Given the description of an element on the screen output the (x, y) to click on. 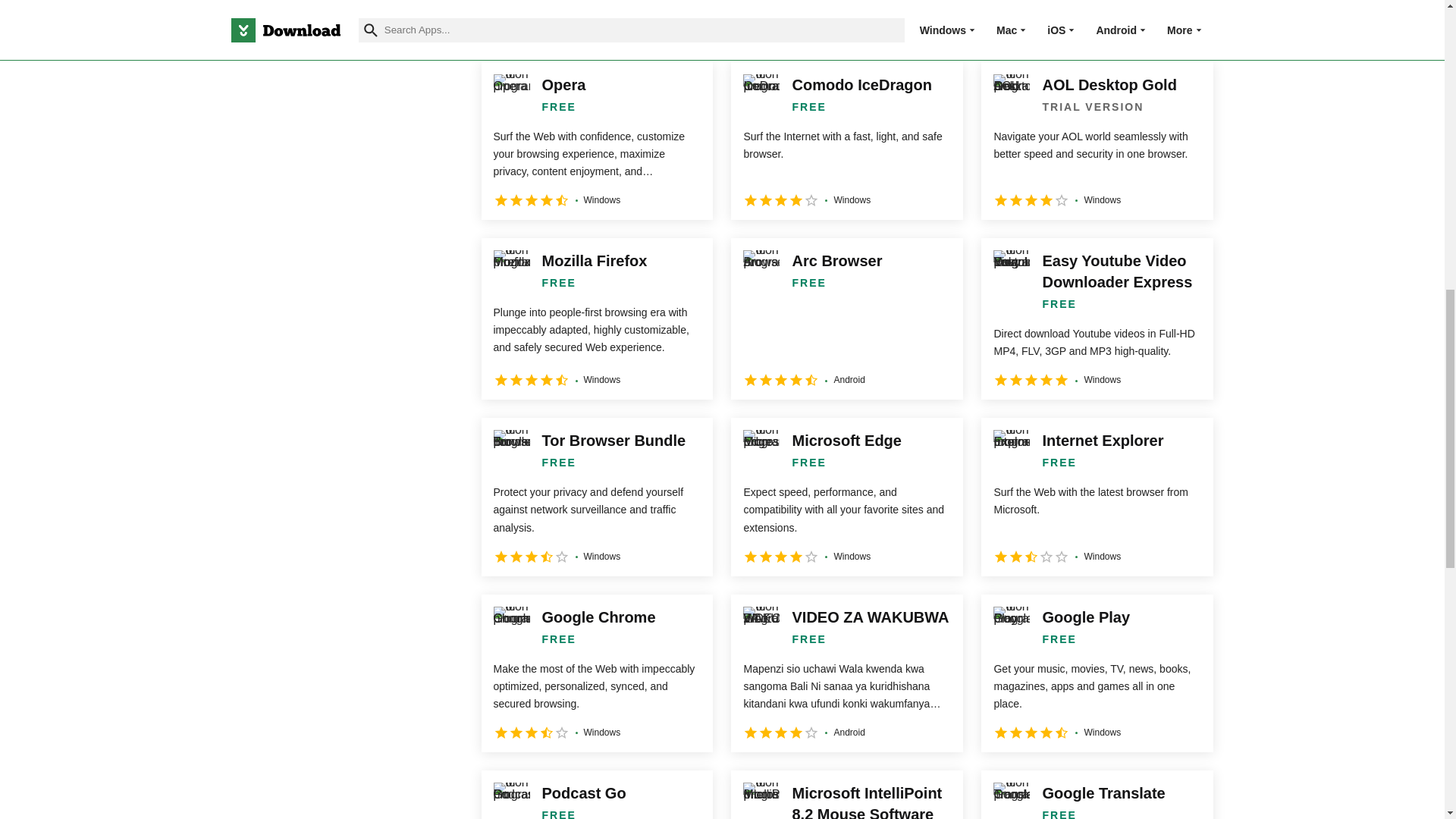
Apple Safari (596, 21)
VIDEO ZA WAKUBWA (846, 673)
AOL Desktop Gold (1096, 141)
Mozilla Firefox (596, 318)
Internet Explorer (1096, 496)
Google Chrome (596, 673)
Opera (596, 141)
Easy Youtube Video Downloader Express (1096, 318)
Arc Browser (846, 318)
UC Browser Mini (1096, 21)
